Given the description of an element on the screen output the (x, y) to click on. 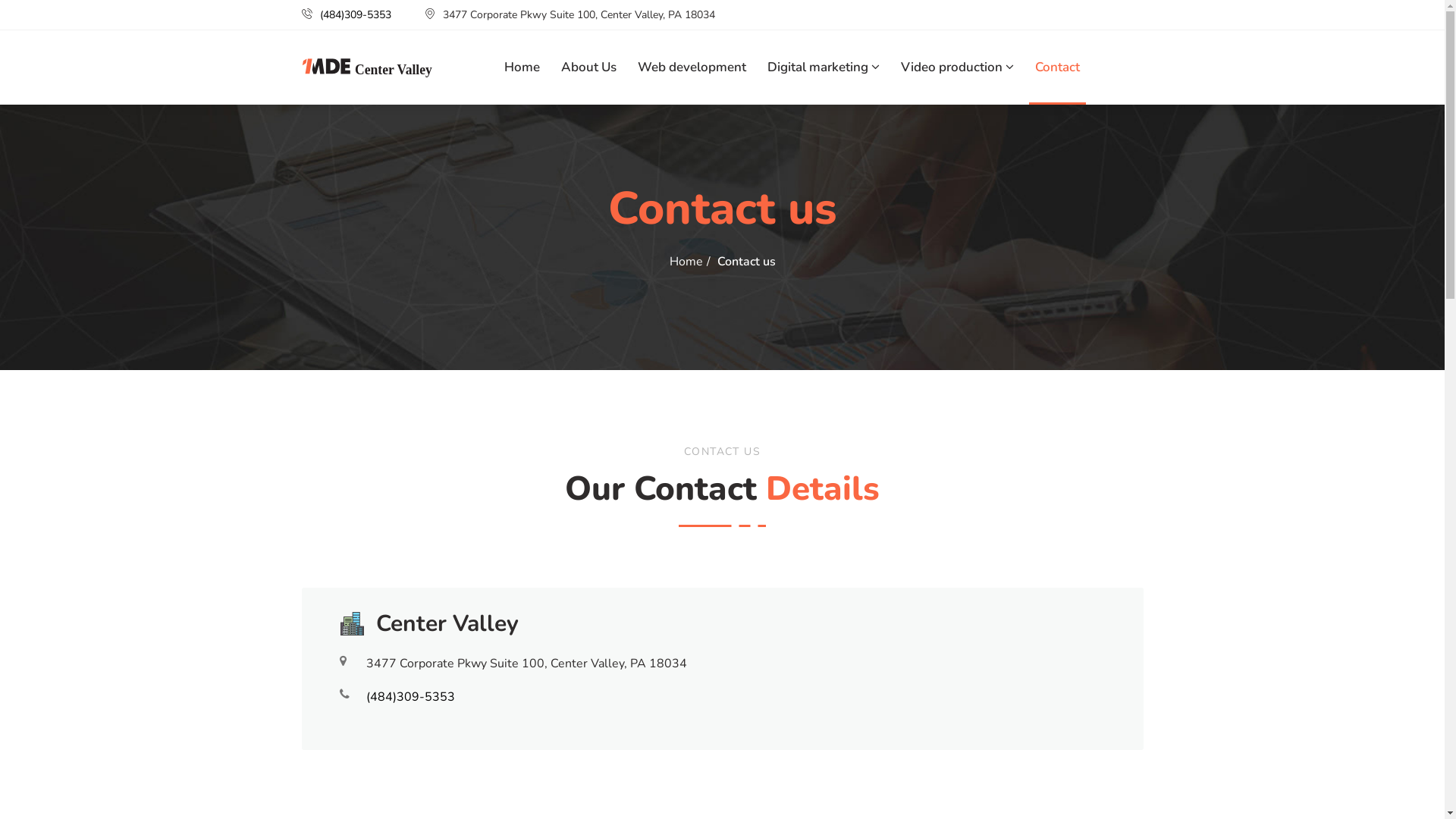
Contact Element type: text (1057, 67)
Home Element type: text (522, 67)
Video production Element type: text (956, 67)
About Us Element type: text (588, 67)
(484)309-5353 Element type: text (409, 696)
Web development Element type: text (691, 67)
Contact us Element type: text (746, 261)
Digital marketing Element type: text (823, 67)
(484)309-5353 Element type: text (355, 14)
